Given the description of an element on the screen output the (x, y) to click on. 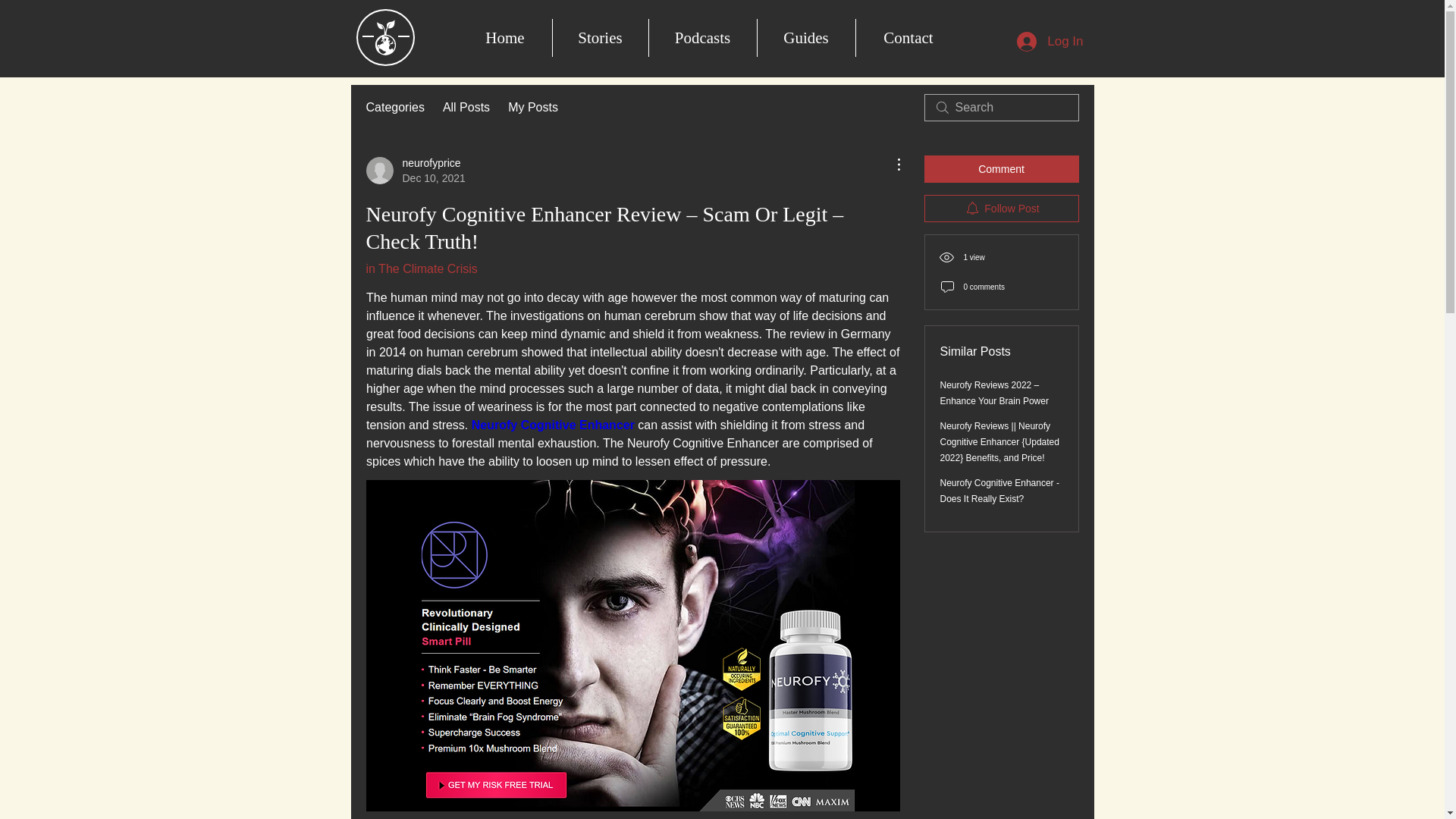
Podcasts (701, 37)
Stories (599, 37)
Categories (394, 107)
Neurofy Cognitive Enhancer - Does It Really Exist? (999, 490)
My Posts (532, 107)
Follow Post (1000, 207)
Neurofy Cognitive Enhancer (551, 424)
in The Climate Crisis (414, 170)
All Posts (421, 268)
Contact (465, 107)
Log In (908, 37)
Comment (1049, 41)
Guides (1000, 168)
Home (806, 37)
